Given the description of an element on the screen output the (x, y) to click on. 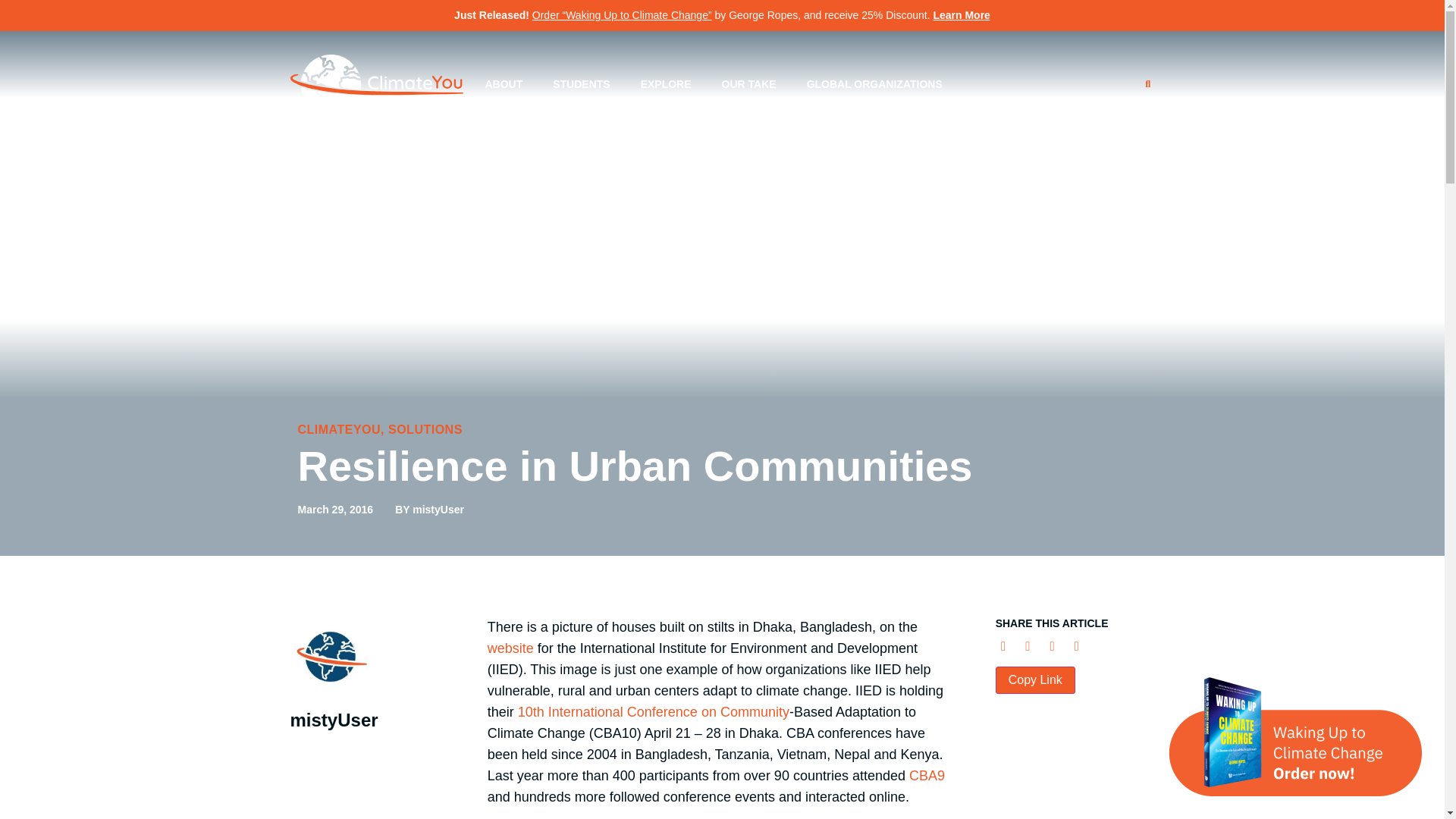
OUR TAKE (749, 83)
BY mistyUser (429, 509)
Copy Link (1035, 679)
website (512, 648)
ABOUT (502, 83)
Learn More (961, 15)
10th International Conference on Community (653, 711)
STUDENTS (580, 83)
CLIMATEYOU (338, 429)
CBA9 (926, 775)
GLOBAL ORGANIZATIONS (875, 83)
SOLUTIONS (425, 429)
EXPLORE (666, 83)
Group 7 (376, 83)
